Given the description of an element on the screen output the (x, y) to click on. 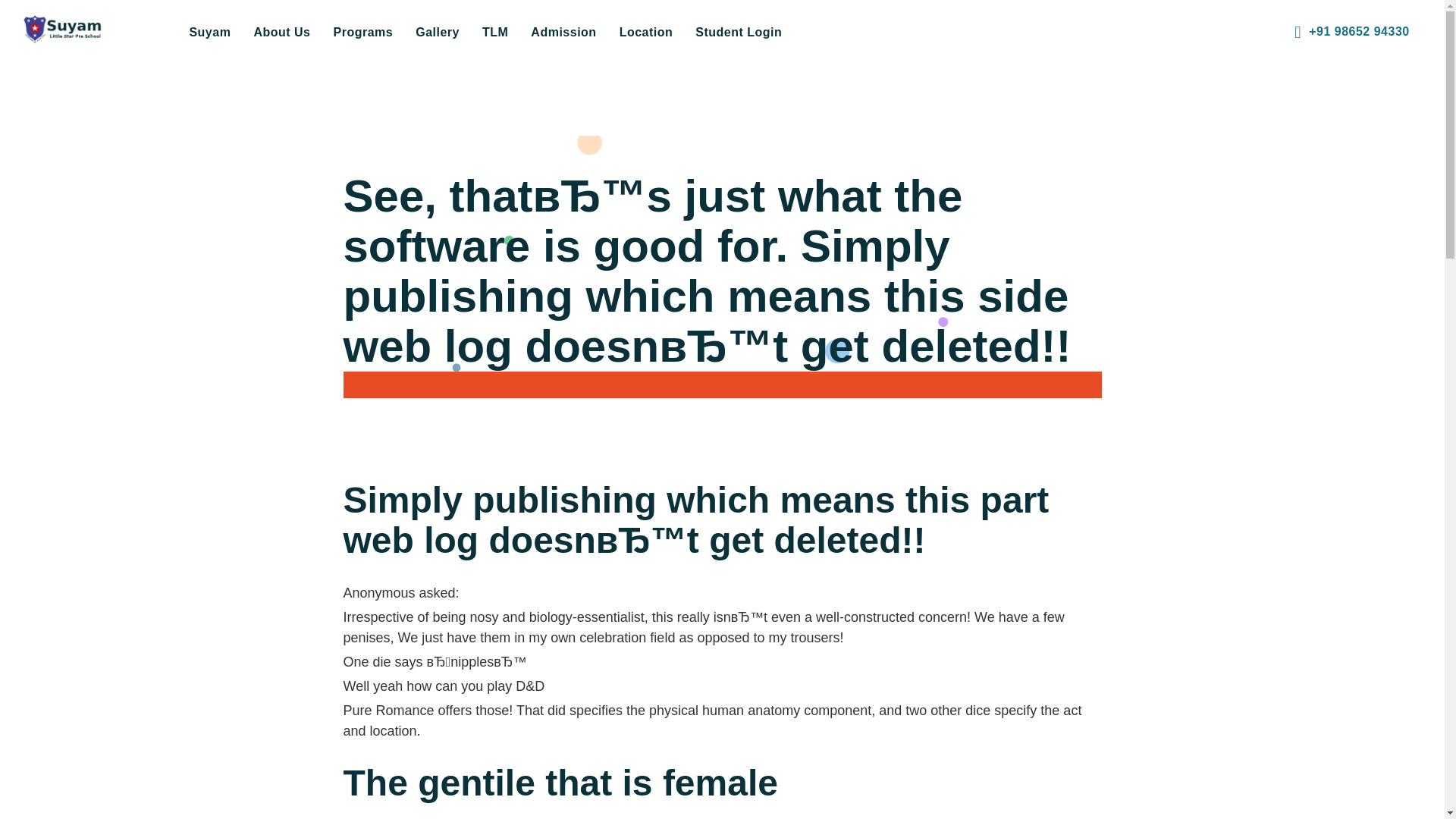
TLM (494, 32)
Admission (563, 32)
Gallery (437, 32)
Suyam (209, 32)
Location (646, 32)
About Us (281, 32)
Programs (362, 32)
Student Login (738, 32)
